Given the description of an element on the screen output the (x, y) to click on. 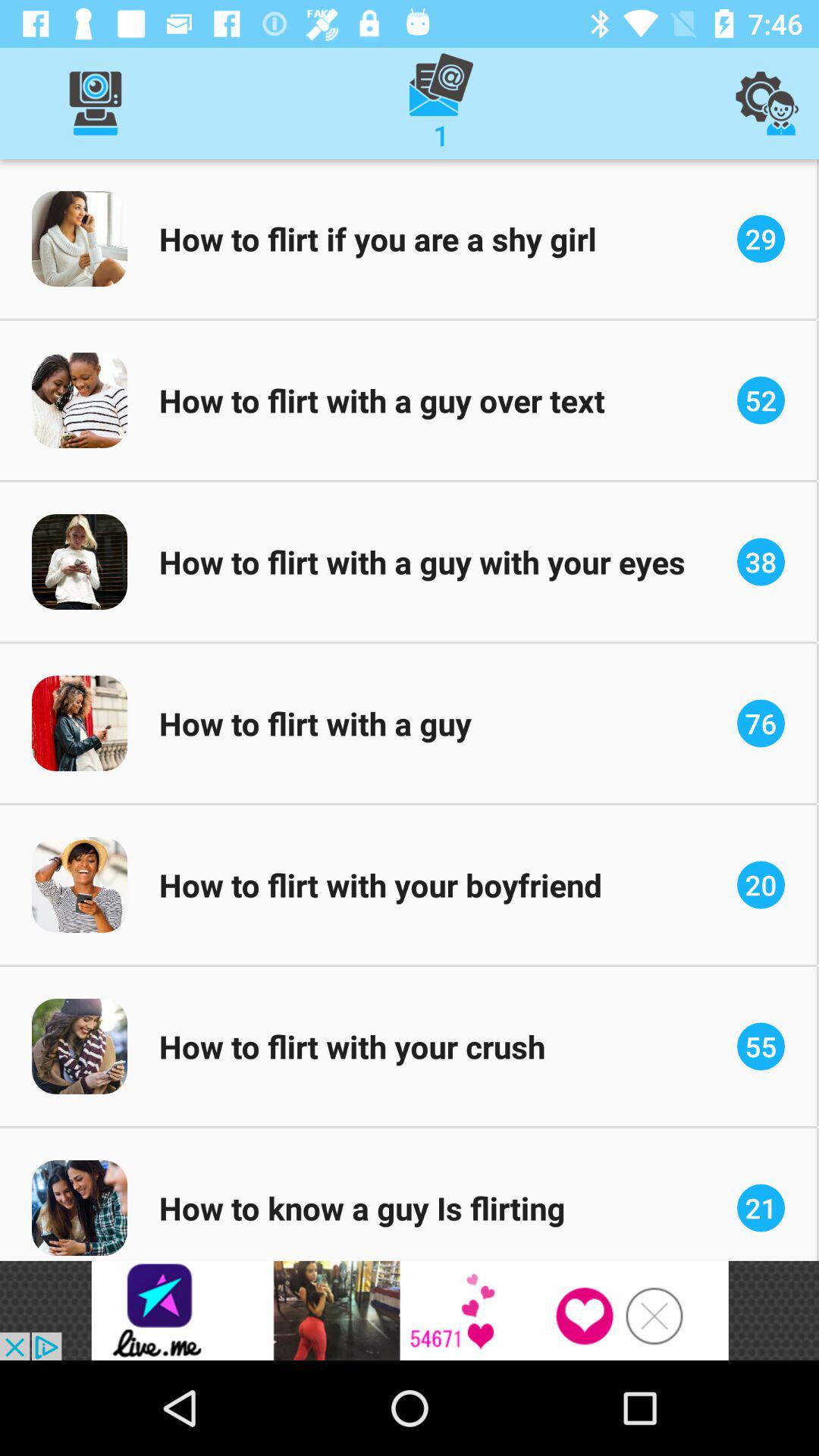
select the first image which is on the left (79, 238)
select the message option which is on the top of the page (440, 103)
select the image which is before how to flirt with a guy on the page (79, 723)
click the image to the left of the text how to flirt with a guy with your eyes (79, 561)
